Given the description of an element on the screen output the (x, y) to click on. 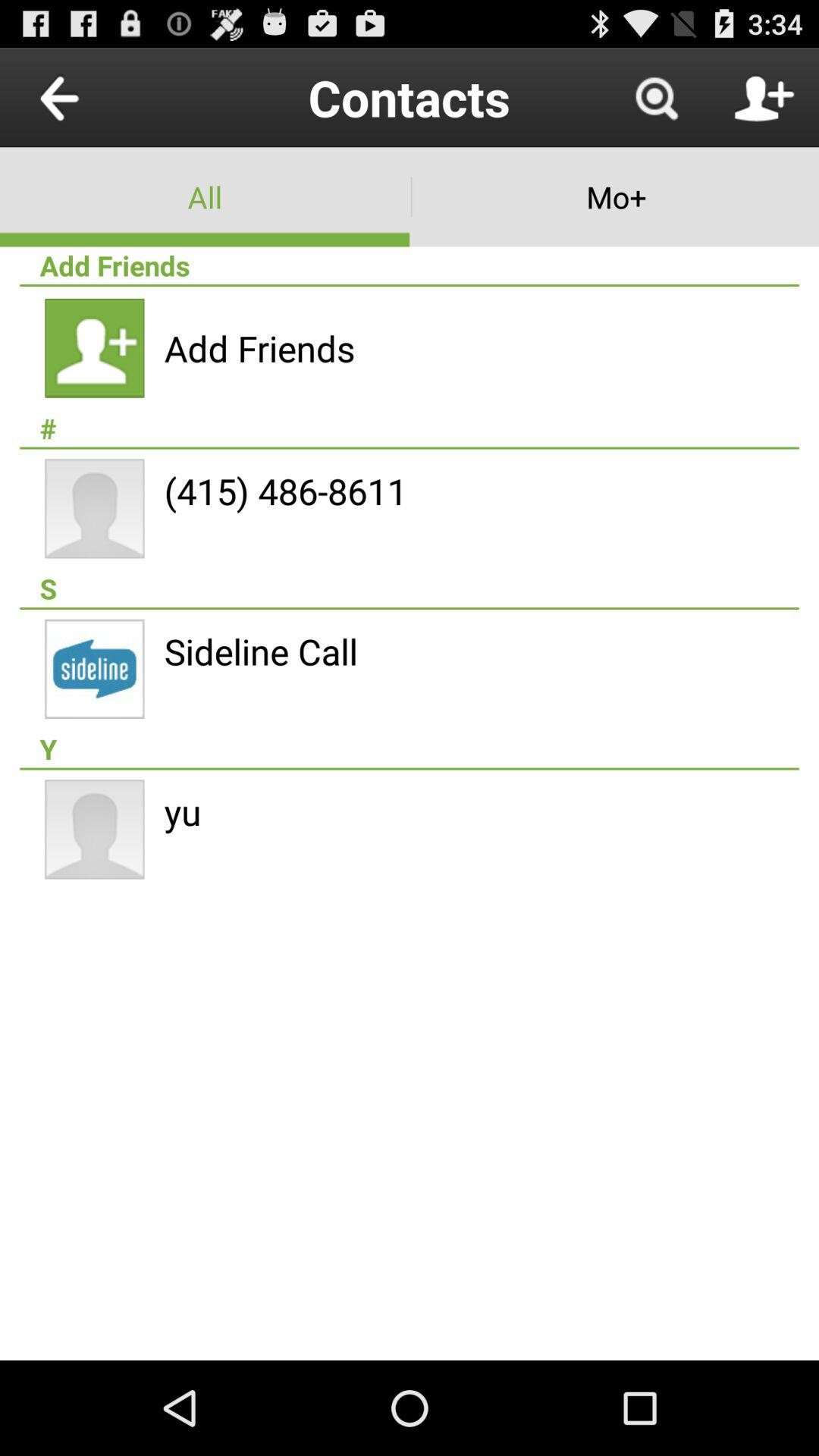
click icon to the right of the all item (614, 196)
